Given the description of an element on the screen output the (x, y) to click on. 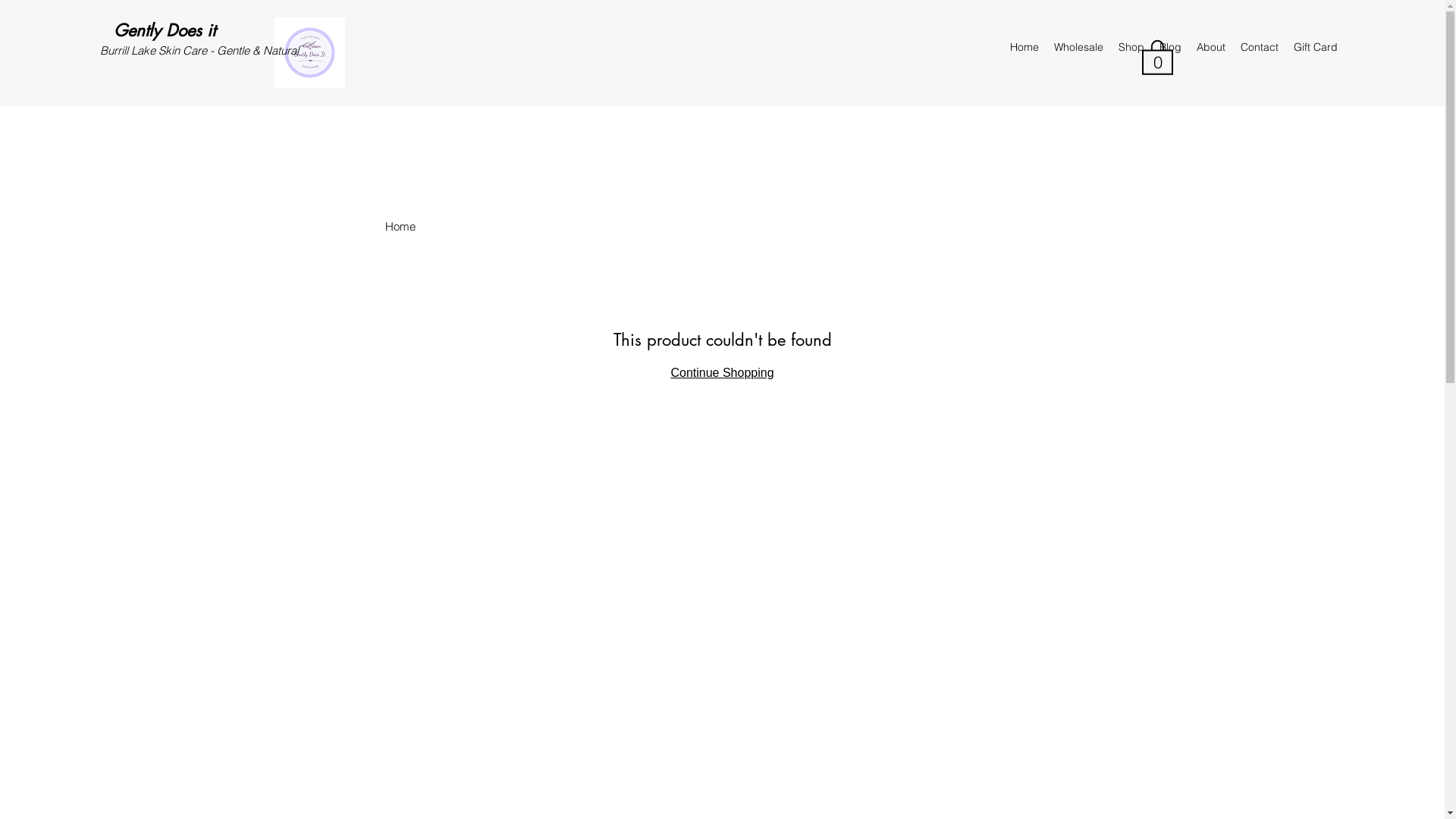
Shop Element type: text (1130, 46)
Continue Shopping Element type: text (721, 372)
Home Element type: text (400, 226)
Contact Element type: text (1259, 46)
About Element type: text (1211, 46)
Gift Card Element type: text (1315, 46)
Home Element type: text (1024, 46)
Blog Element type: text (1170, 46)
0 Element type: text (1157, 56)
Wholesale Element type: text (1078, 46)
